Given the description of an element on the screen output the (x, y) to click on. 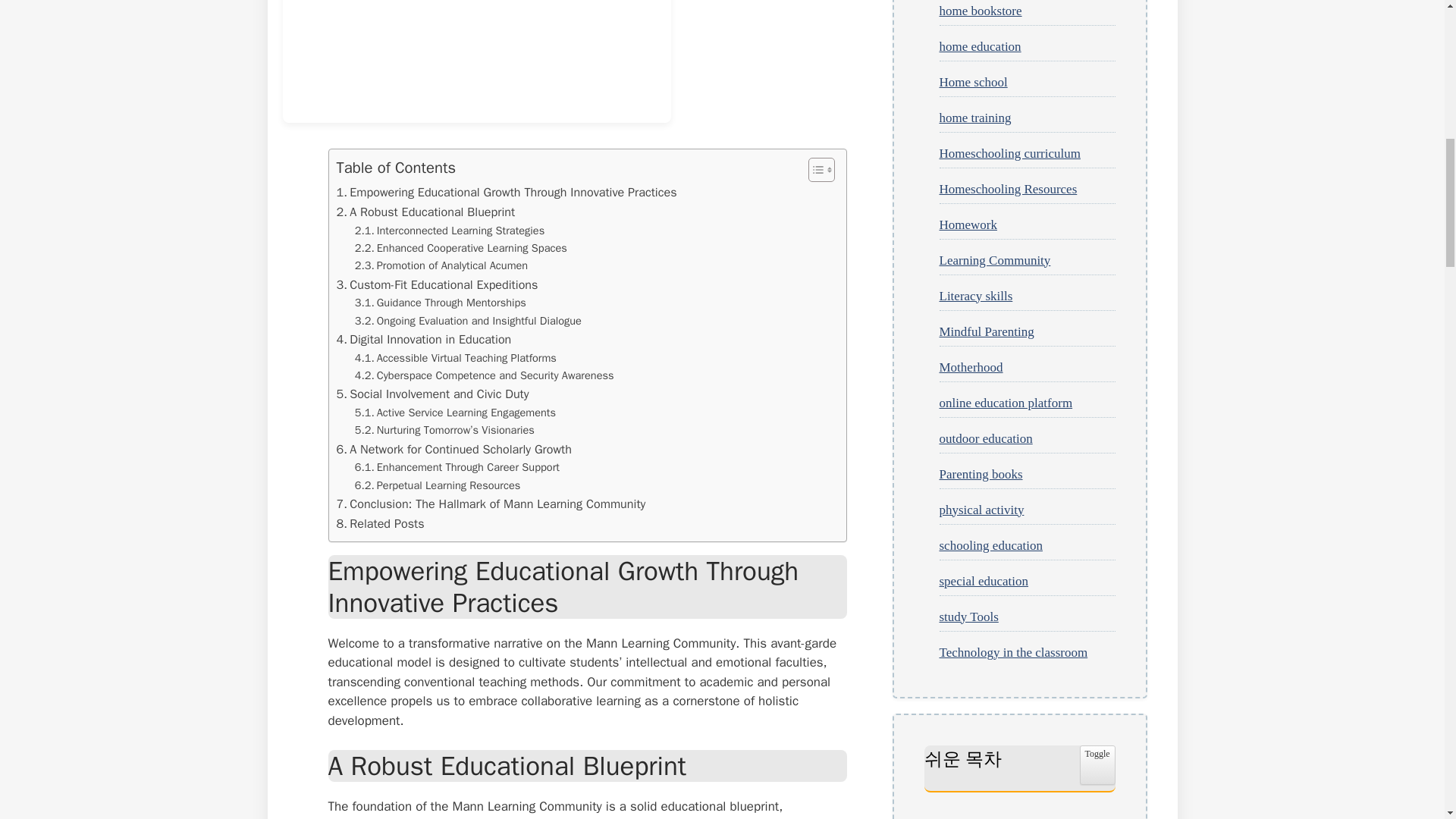
Cyberspace Competence and Security Awareness (484, 375)
Digital Innovation in Education (424, 339)
Promotion of Analytical Acumen (441, 265)
Conclusion: The Hallmark of Mann Learning Community (491, 504)
A Network for Continued Scholarly Growth (454, 449)
Enhanced Cooperative Learning Spaces (461, 248)
Cyberspace Competence and Security Awareness (484, 375)
Custom-Fit Educational Expeditions (437, 284)
Interconnected Learning Strategies (449, 230)
A Robust Educational Blueprint (425, 211)
A Robust Educational Blueprint (425, 211)
Digital Innovation in Education (424, 339)
A Network for Continued Scholarly Growth (454, 449)
Empowering Educational Growth Through Innovative Practices (506, 192)
Accessible Virtual Teaching Platforms (455, 357)
